Given the description of an element on the screen output the (x, y) to click on. 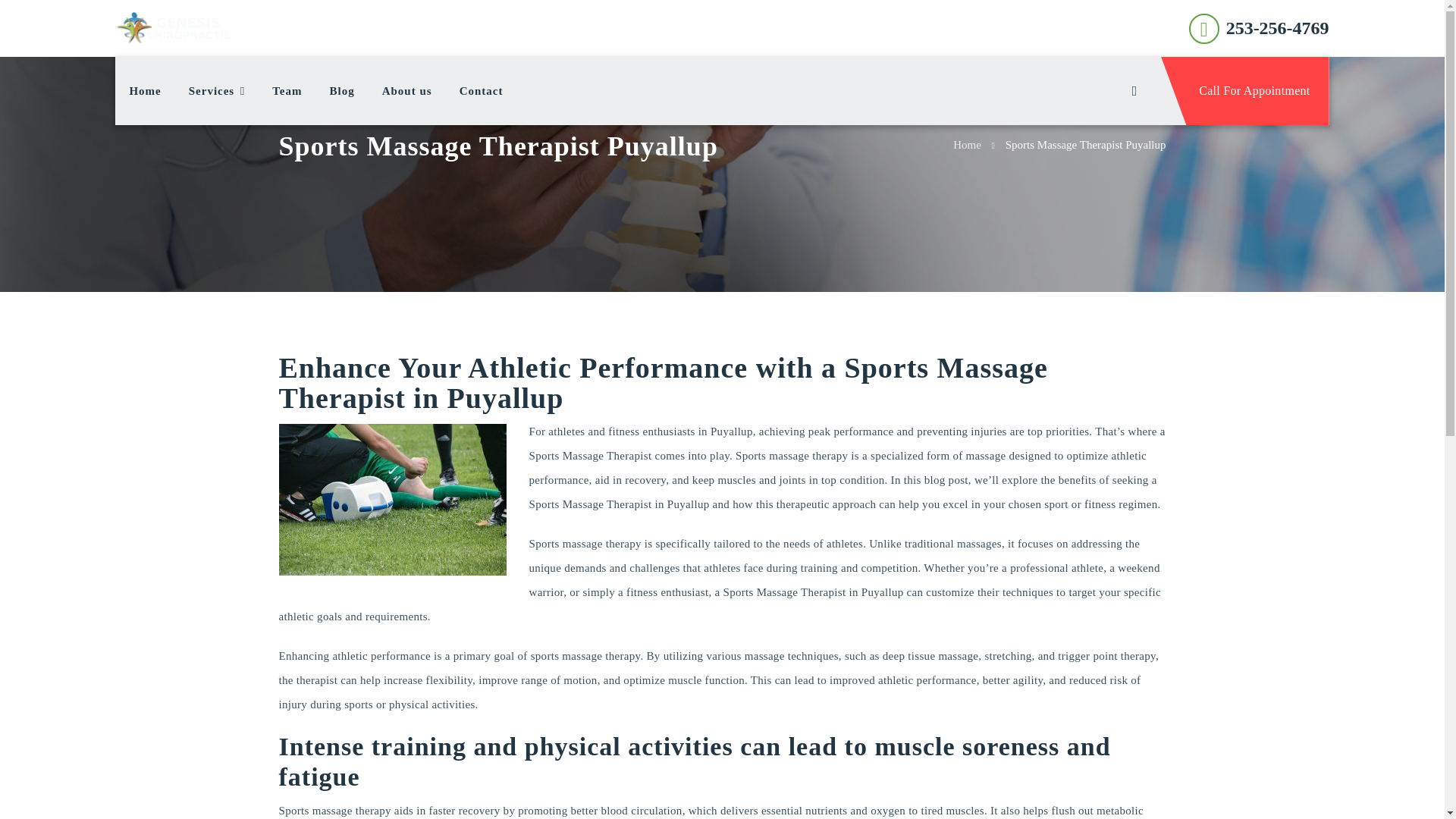
Team (287, 90)
About us (406, 90)
Contact (480, 90)
Services (216, 90)
Home (967, 143)
Blog (341, 90)
Home (144, 90)
Call For Appointment (1243, 90)
